Given the description of an element on the screen output the (x, y) to click on. 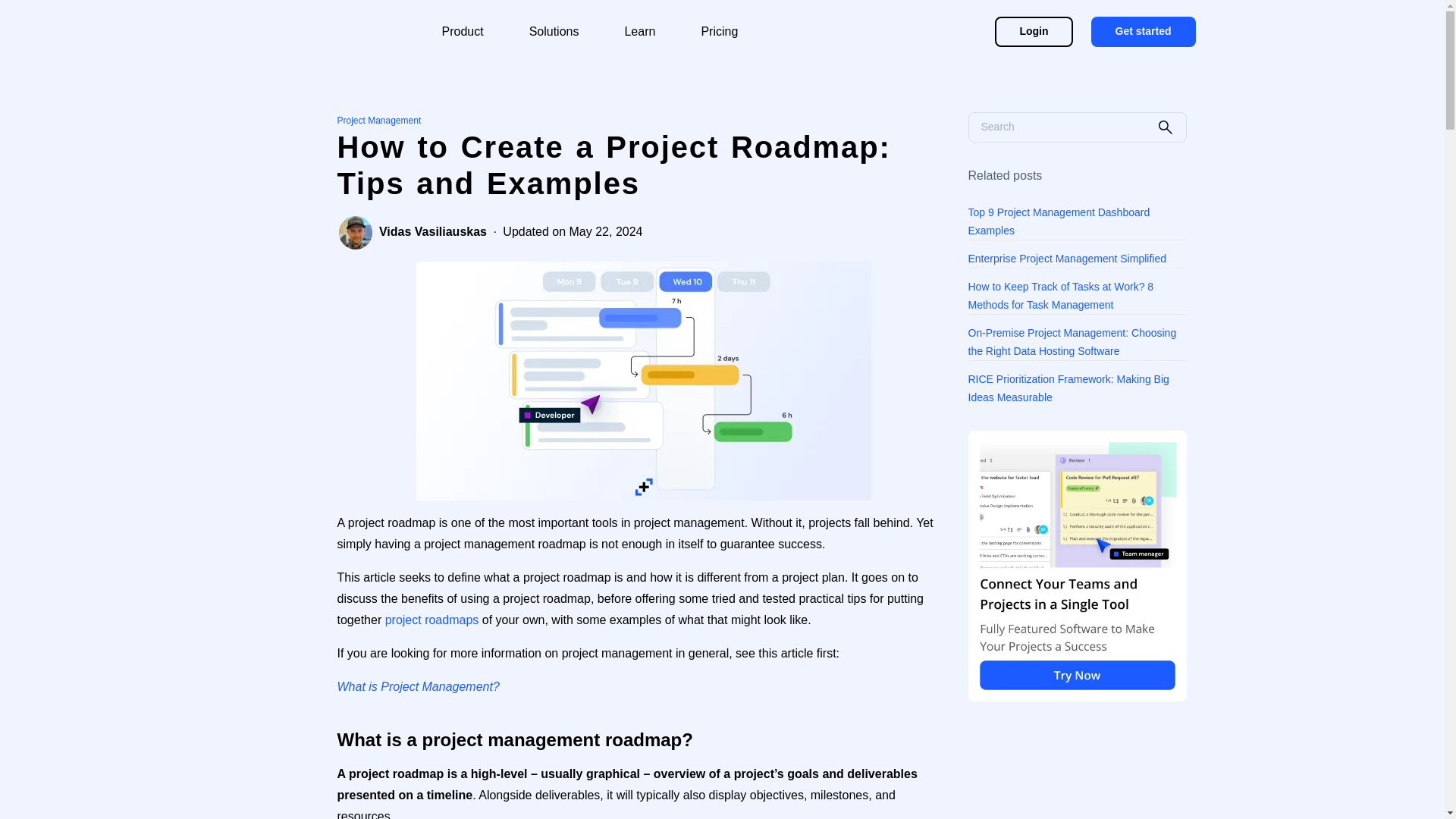
Login (1032, 31)
Enterprise Project Management Simplified (1077, 258)
Project Management (381, 120)
Top 9 Project Management Dashboard Examples  (1077, 221)
project roadmaps (432, 619)
How to Create a Project Roadmap: Tips and Examples 1 (642, 380)
Pricing (718, 31)
Get started (1142, 31)
What is Project Management? (417, 686)
